Given the description of an element on the screen output the (x, y) to click on. 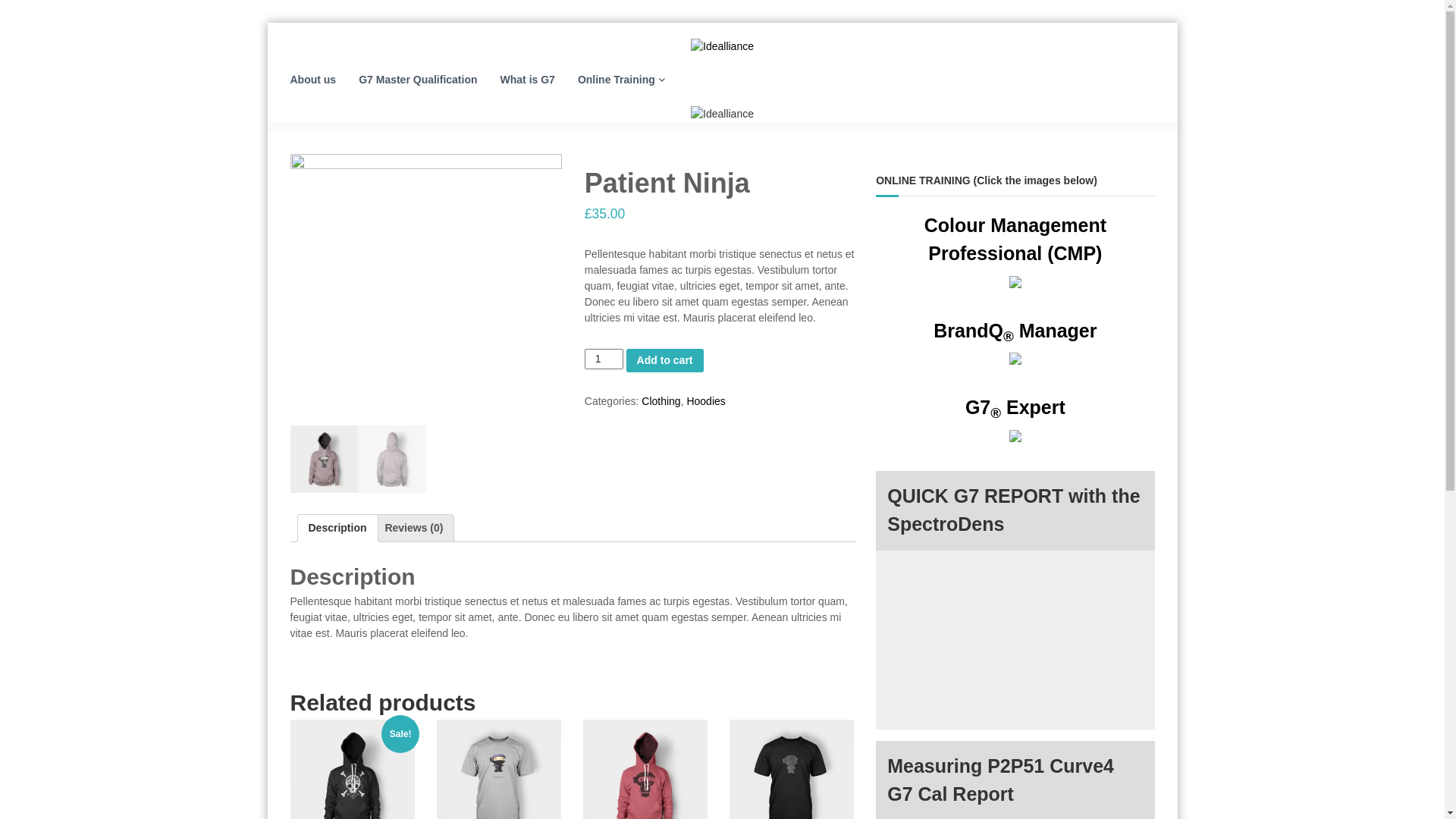
G7 Master Qualification Element type: text (417, 79)
Idealliance Element type: text (302, 153)
Colour Management Professional (CMP) Element type: text (1014, 254)
About us Element type: text (312, 79)
Qty Element type: hover (603, 358)
hoodie_3_back Element type: hover (696, 289)
Reviews (0) Element type: text (413, 527)
What is G7 Element type: text (527, 79)
Add to cart Element type: text (664, 360)
Hoodies Element type: text (705, 401)
hoodie_3_front Element type: hover (425, 289)
Online Training Element type: text (616, 79)
Skip to content Element type: text (266, 21)
Description Element type: text (336, 527)
Clothing Element type: text (660, 401)
